Given the description of an element on the screen output the (x, y) to click on. 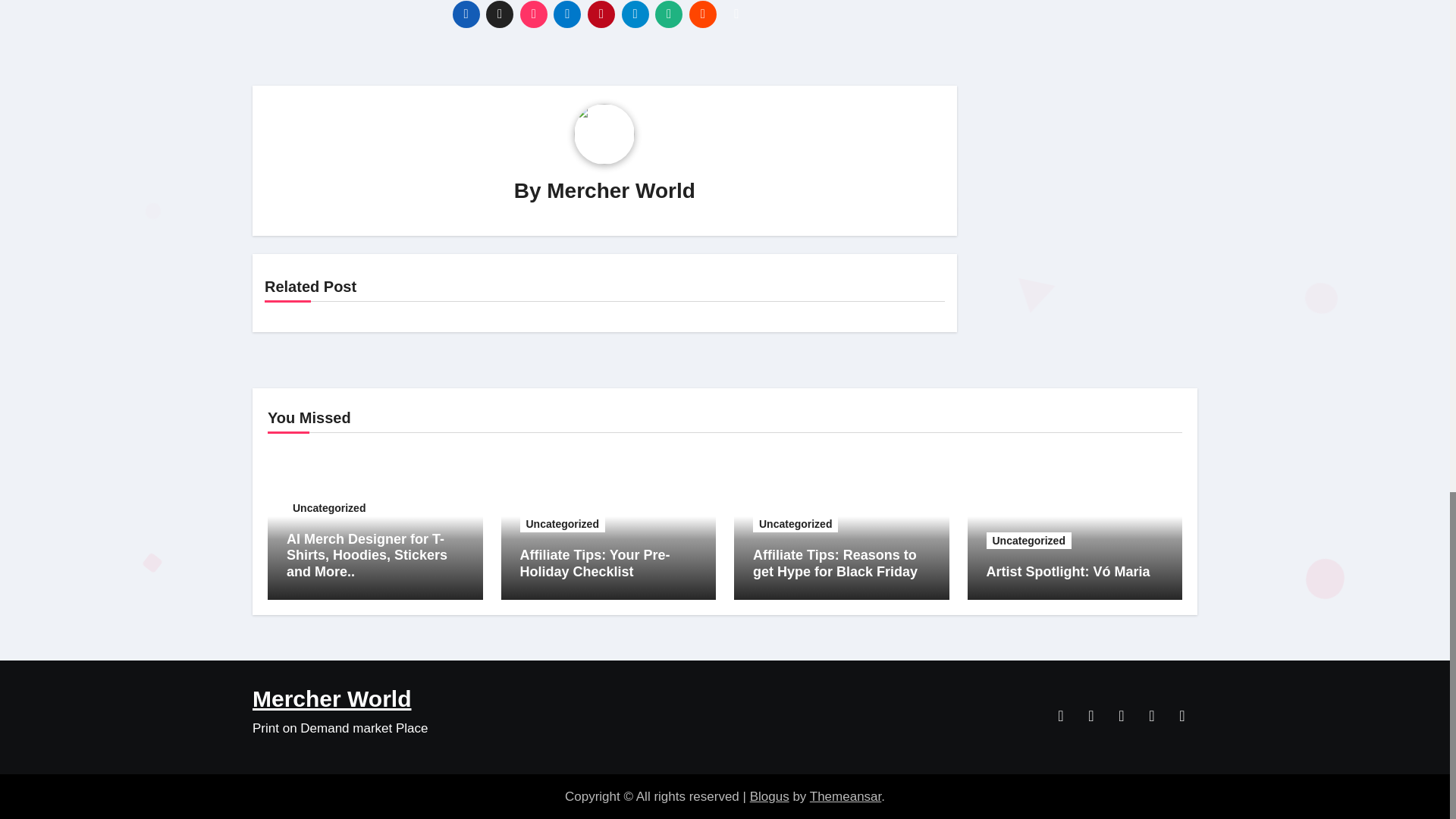
Permalink to: Affiliate Tips: Your Pre-Holiday Checklist (594, 563)
